Given the description of an element on the screen output the (x, y) to click on. 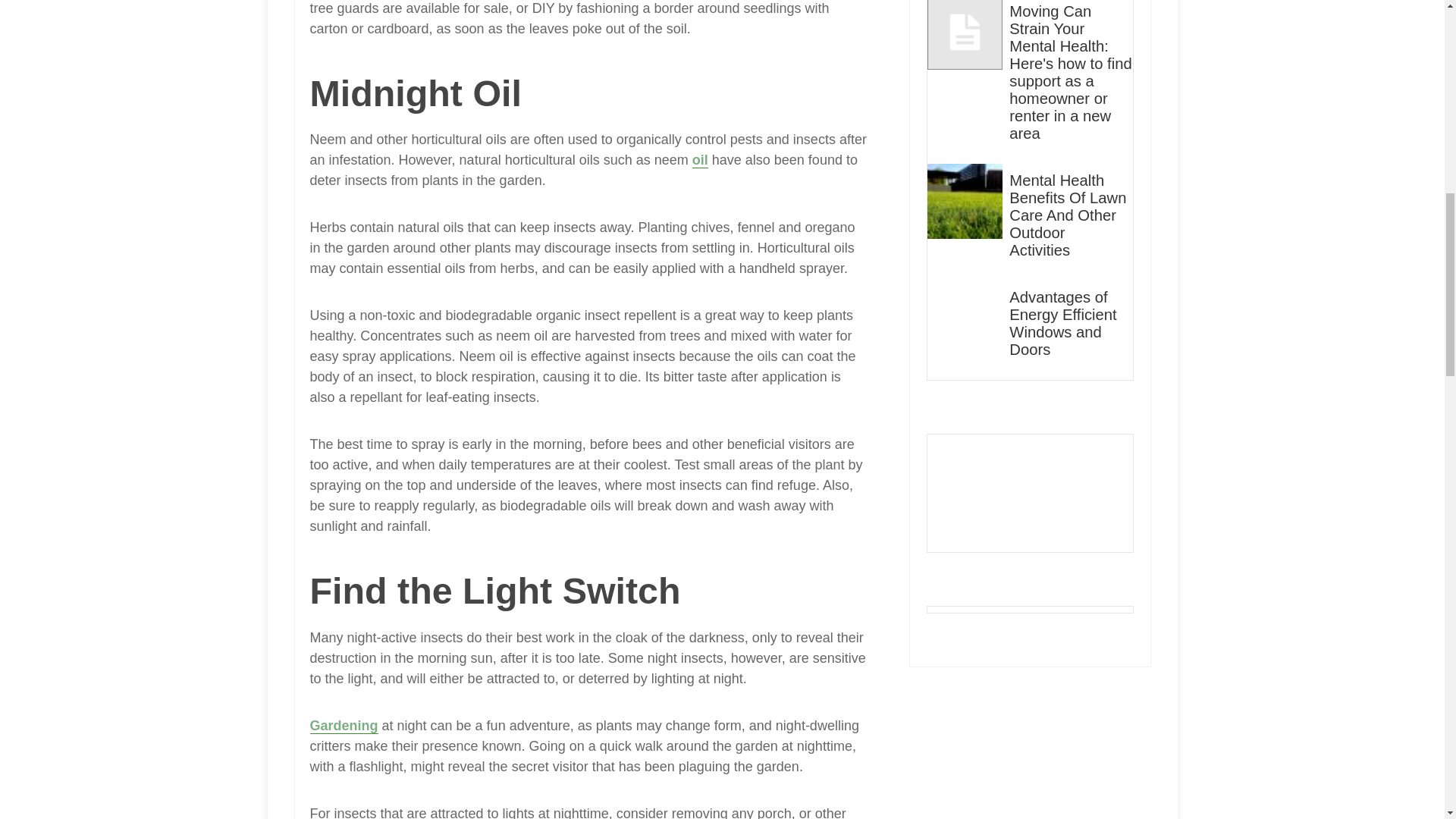
Advantages of Energy Efficient Windows and Doors (1070, 323)
oil (700, 160)
Gardening (342, 725)
